Given the description of an element on the screen output the (x, y) to click on. 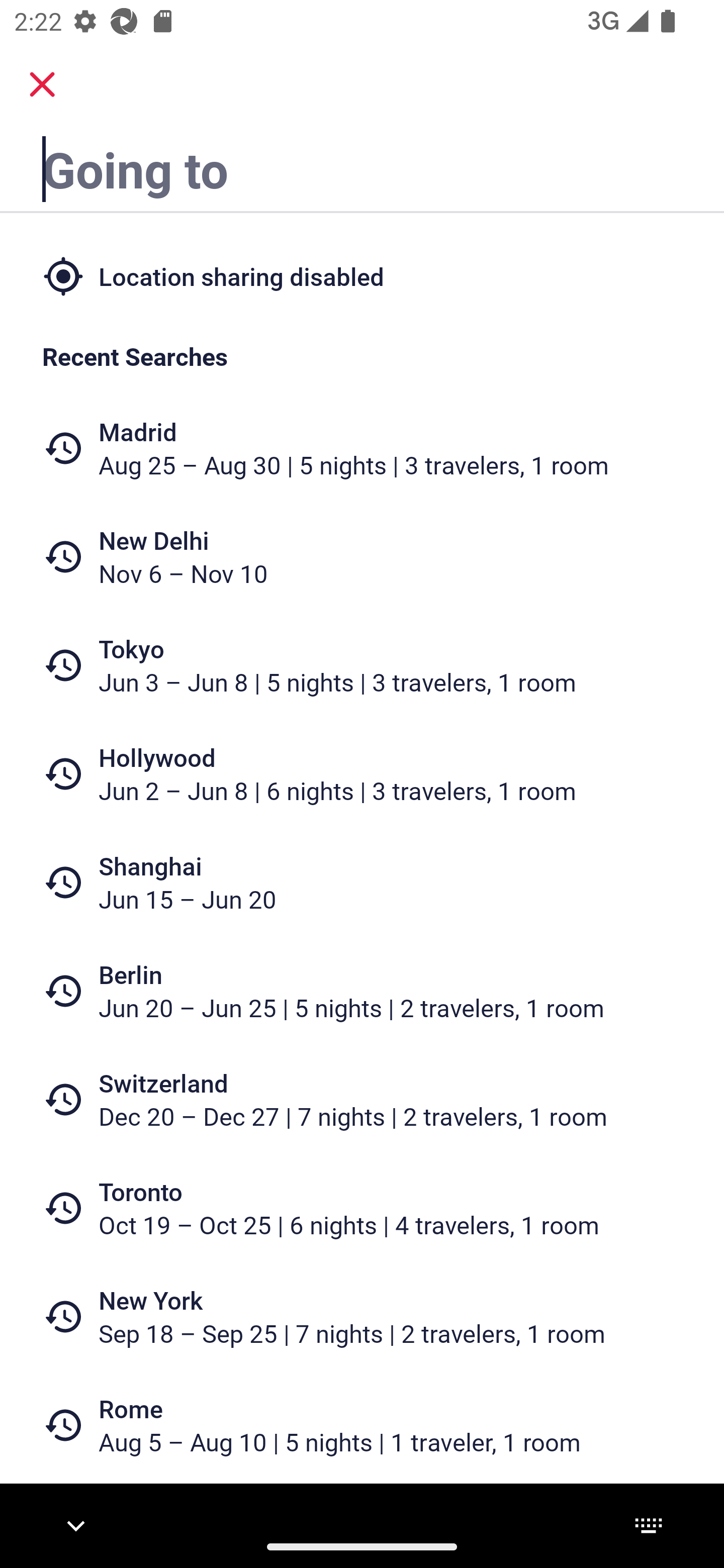
close. (42, 84)
Location sharing disabled (362, 275)
New Delhi Nov 6 – Nov 10 (362, 557)
Shanghai Jun 15 – Jun 20 (362, 881)
